Given the description of an element on the screen output the (x, y) to click on. 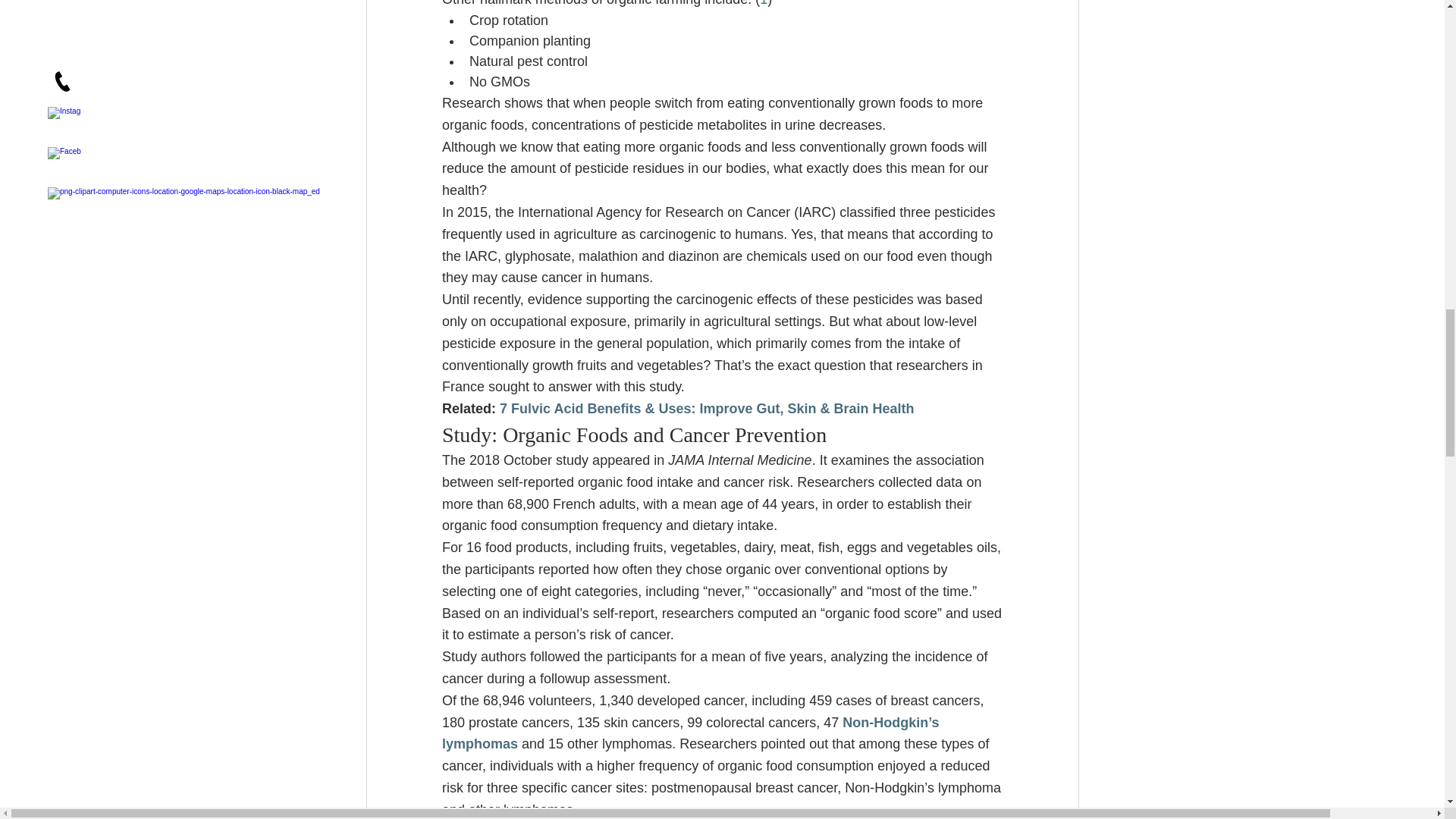
1 (763, 3)
